Given the description of an element on the screen output the (x, y) to click on. 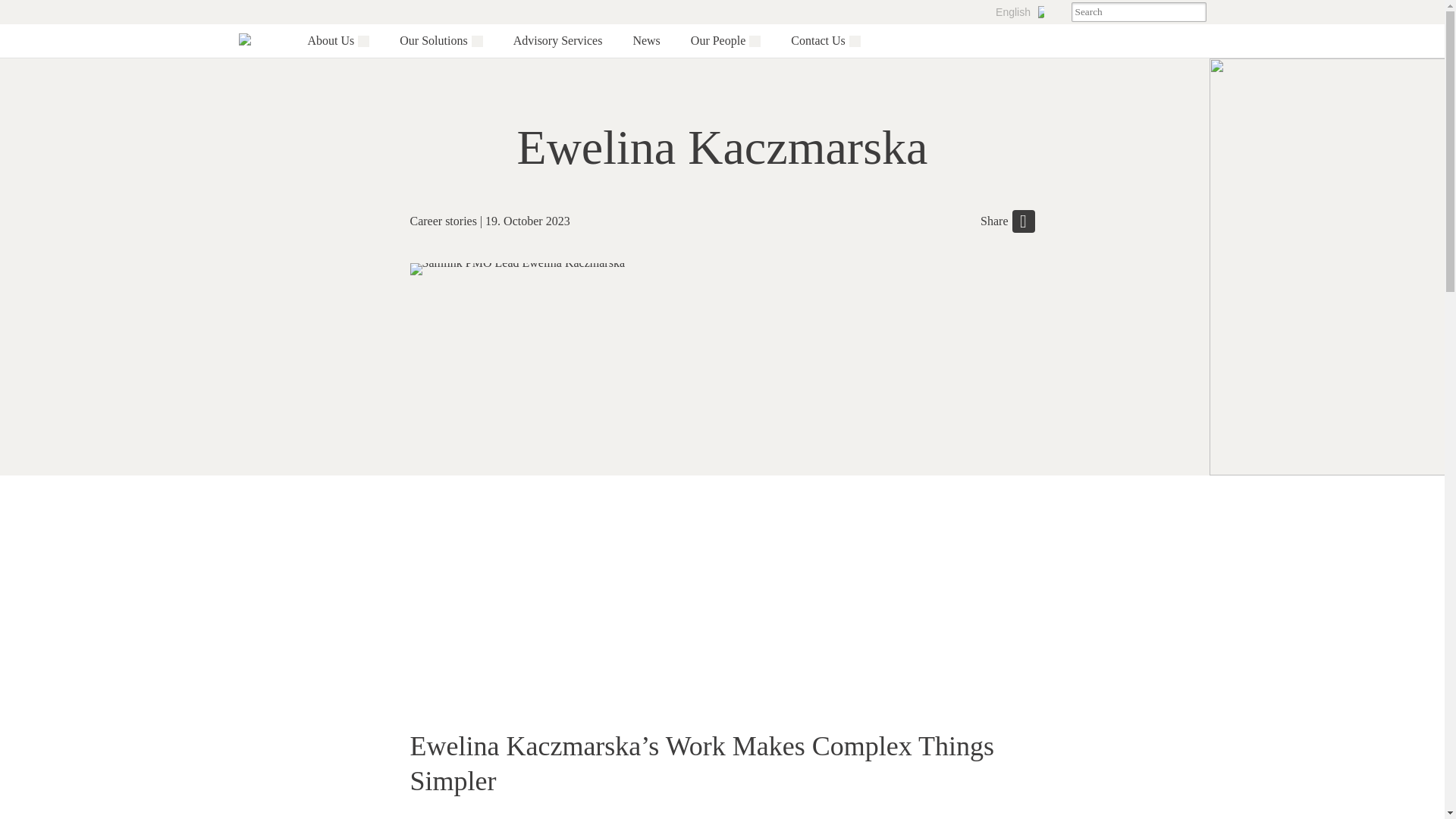
Search (1195, 12)
Contact Us (817, 40)
Our People (717, 40)
Advisory Services (557, 40)
English (1019, 12)
Our Solutions (432, 40)
About Us (331, 40)
News (645, 40)
